Given the description of an element on the screen output the (x, y) to click on. 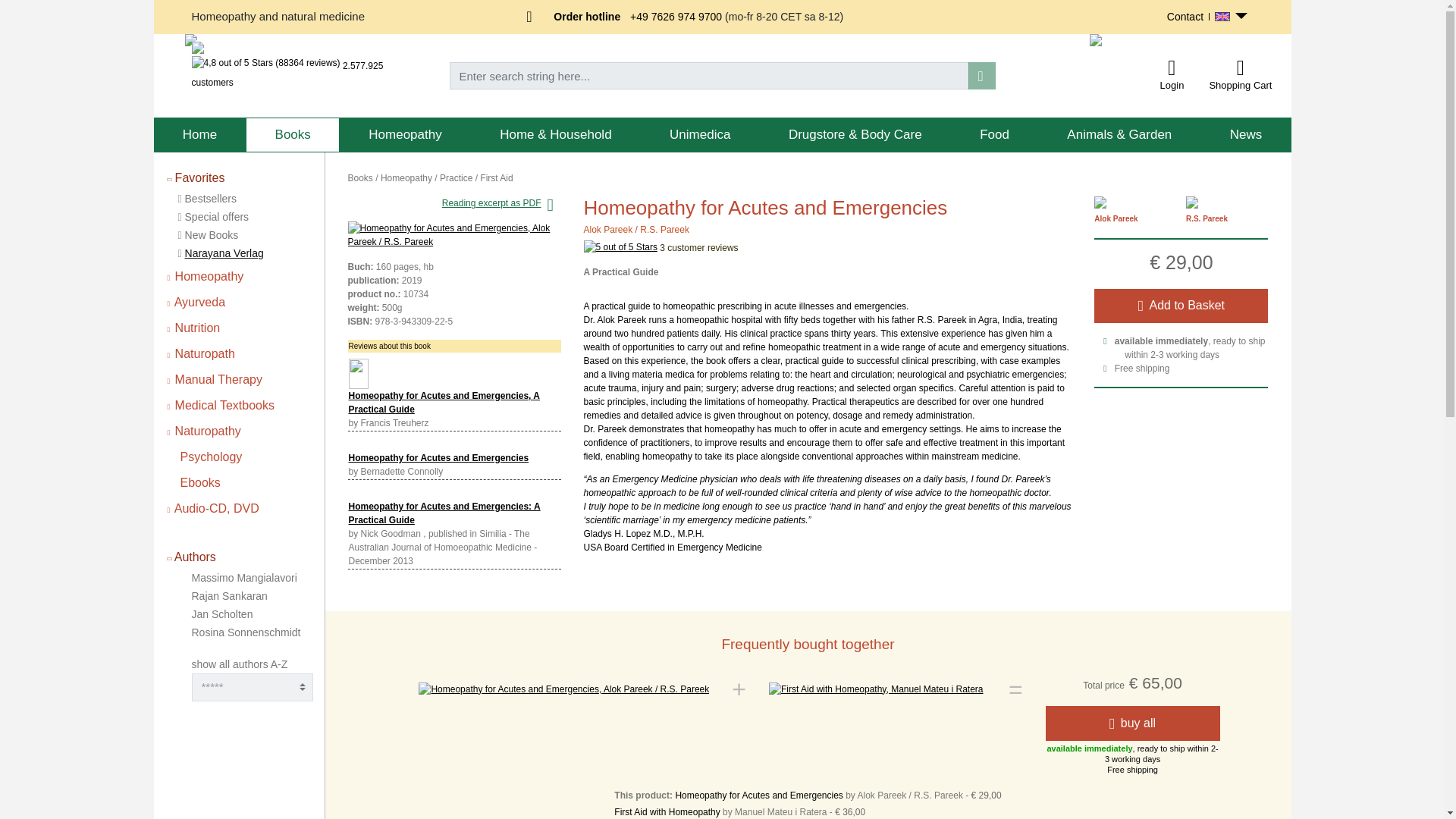
Rajan Sankaran (228, 595)
Rosina Sonnenschmidt (244, 632)
Homeopathy for Acutes and Emergencies  Review (439, 457)
Shopping Cart (1240, 67)
Contact (1184, 17)
Jan Scholten (220, 613)
Homeopathy for Acutes and Emergencies  Review (358, 372)
Homeopathy for Acutes and Emergencies  Review (444, 513)
R.S. Pareek (664, 229)
5 out of 5 Stars (620, 246)
